Given the description of an element on the screen output the (x, y) to click on. 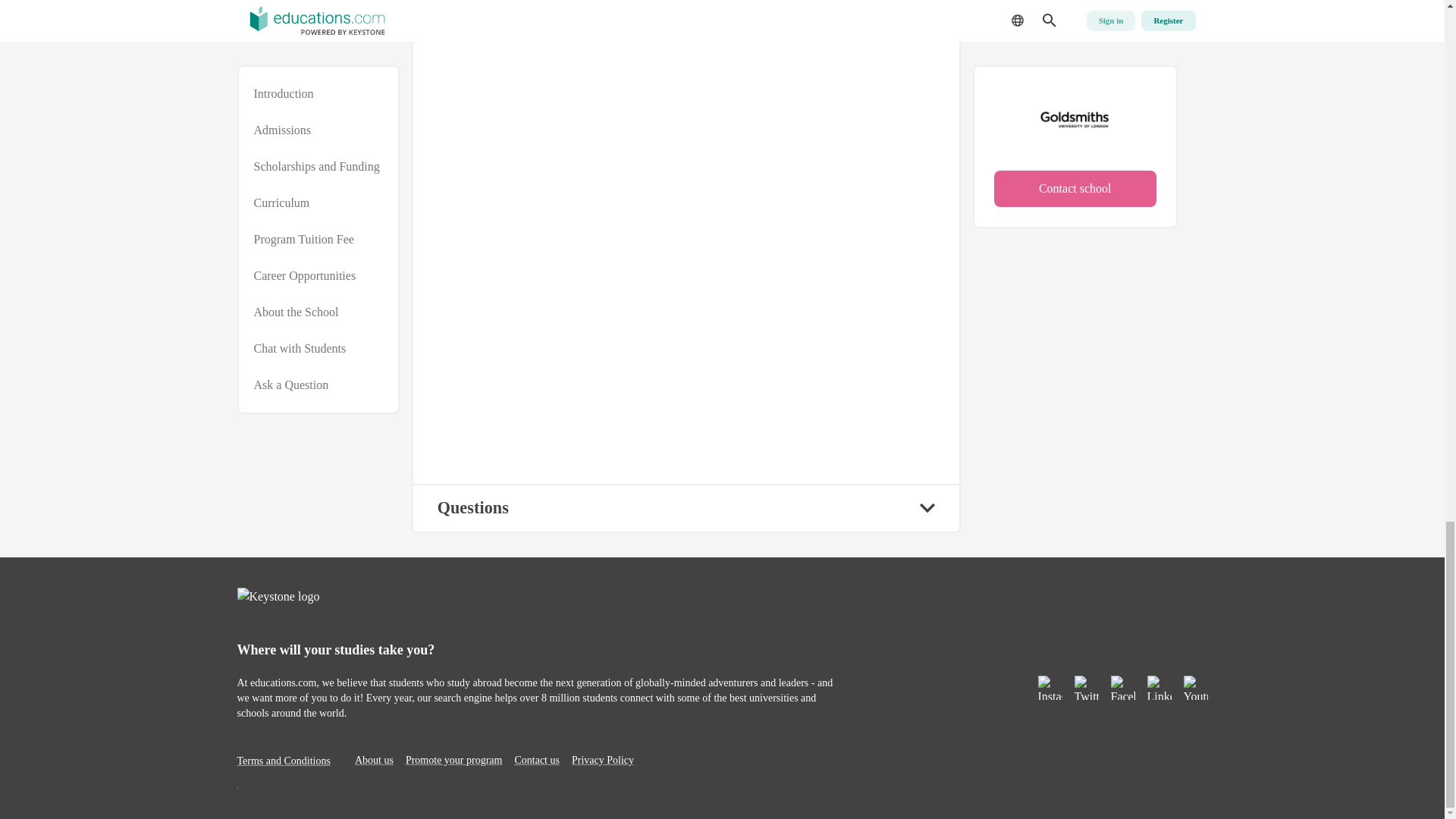
About us (374, 759)
Contact us (536, 759)
Promote your program (454, 759)
Privacy Policy (602, 759)
Terms and Conditions (282, 760)
